Given the description of an element on the screen output the (x, y) to click on. 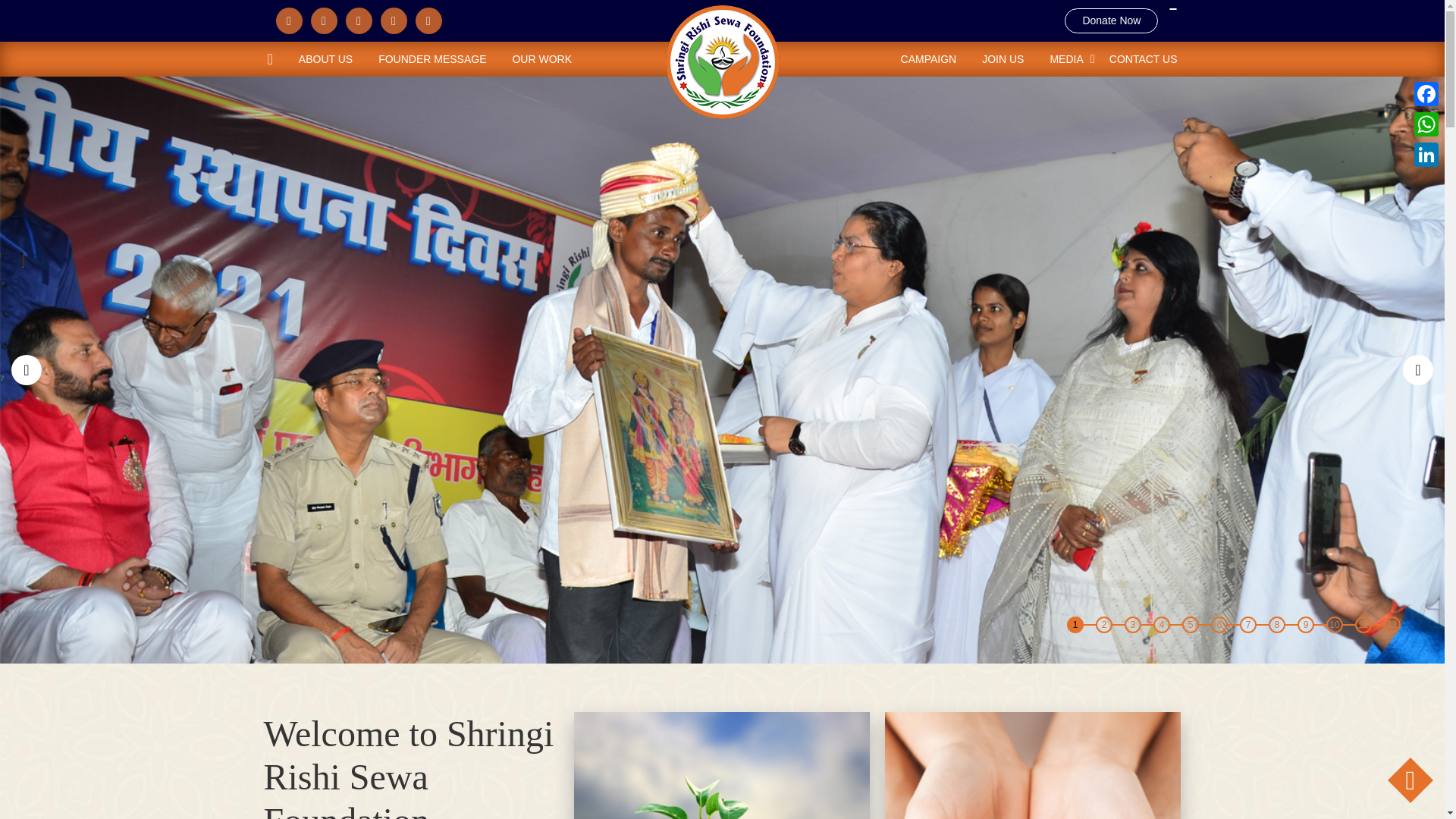
ABOUT US (325, 58)
CAMPAIGN (935, 58)
MEDIA (1066, 58)
Donate Now (1342, 20)
OUR WORK (535, 58)
FOUNDER MESSAGE (432, 58)
CONTACT US (1136, 58)
JOIN US (1002, 58)
